Given the description of an element on the screen output the (x, y) to click on. 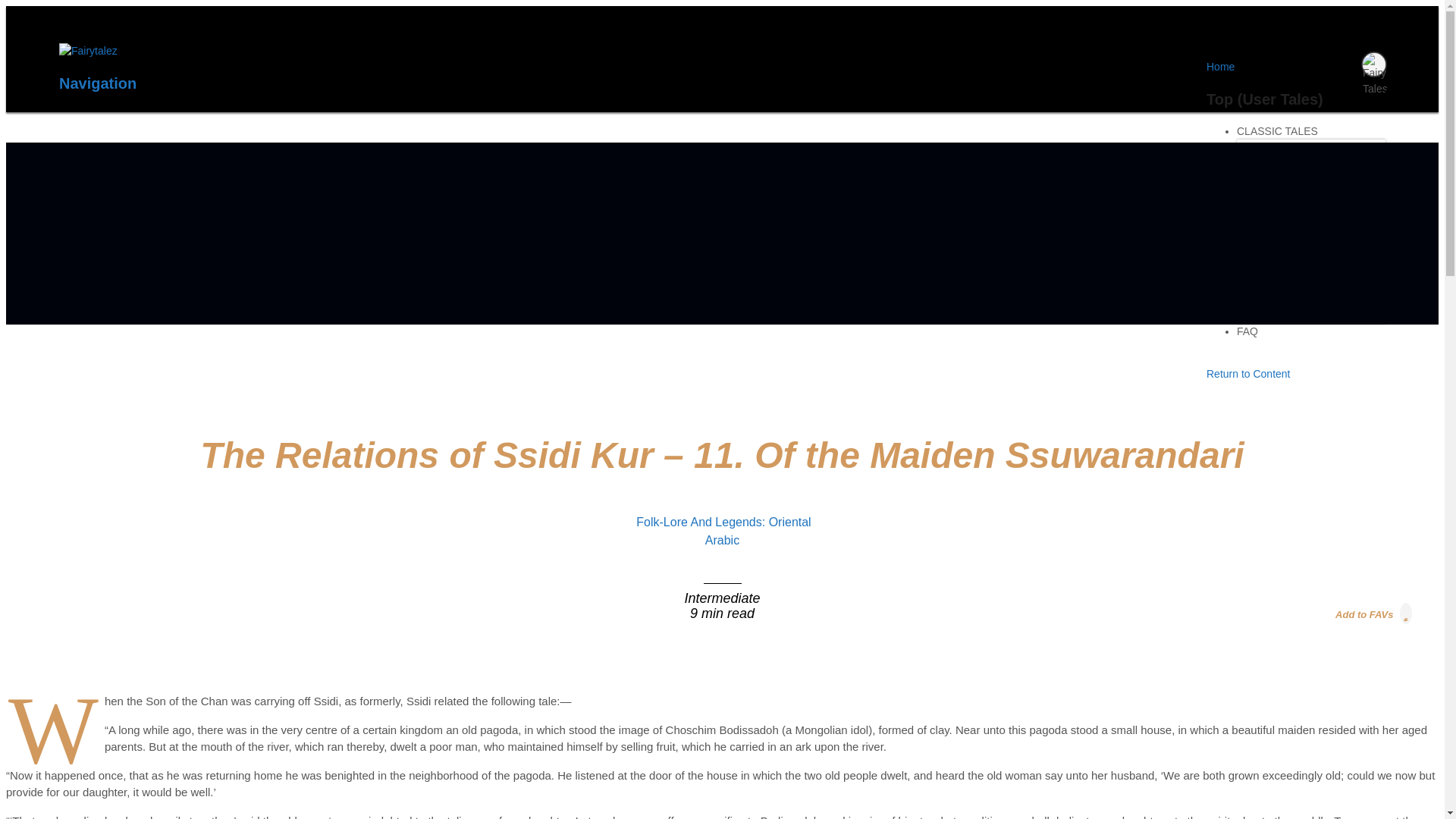
Add to FAVs (1373, 612)
CLASSIC TALES (1276, 136)
Story Index (1276, 283)
Users (1262, 268)
Fairytalez audio book ios app (1102, 297)
Arabic (721, 540)
Navigation (97, 83)
Books On Amazon (1295, 199)
View all items in Folk-Lore and Legends: Oriental (723, 521)
USER TALES (1268, 236)
